Given the description of an element on the screen output the (x, y) to click on. 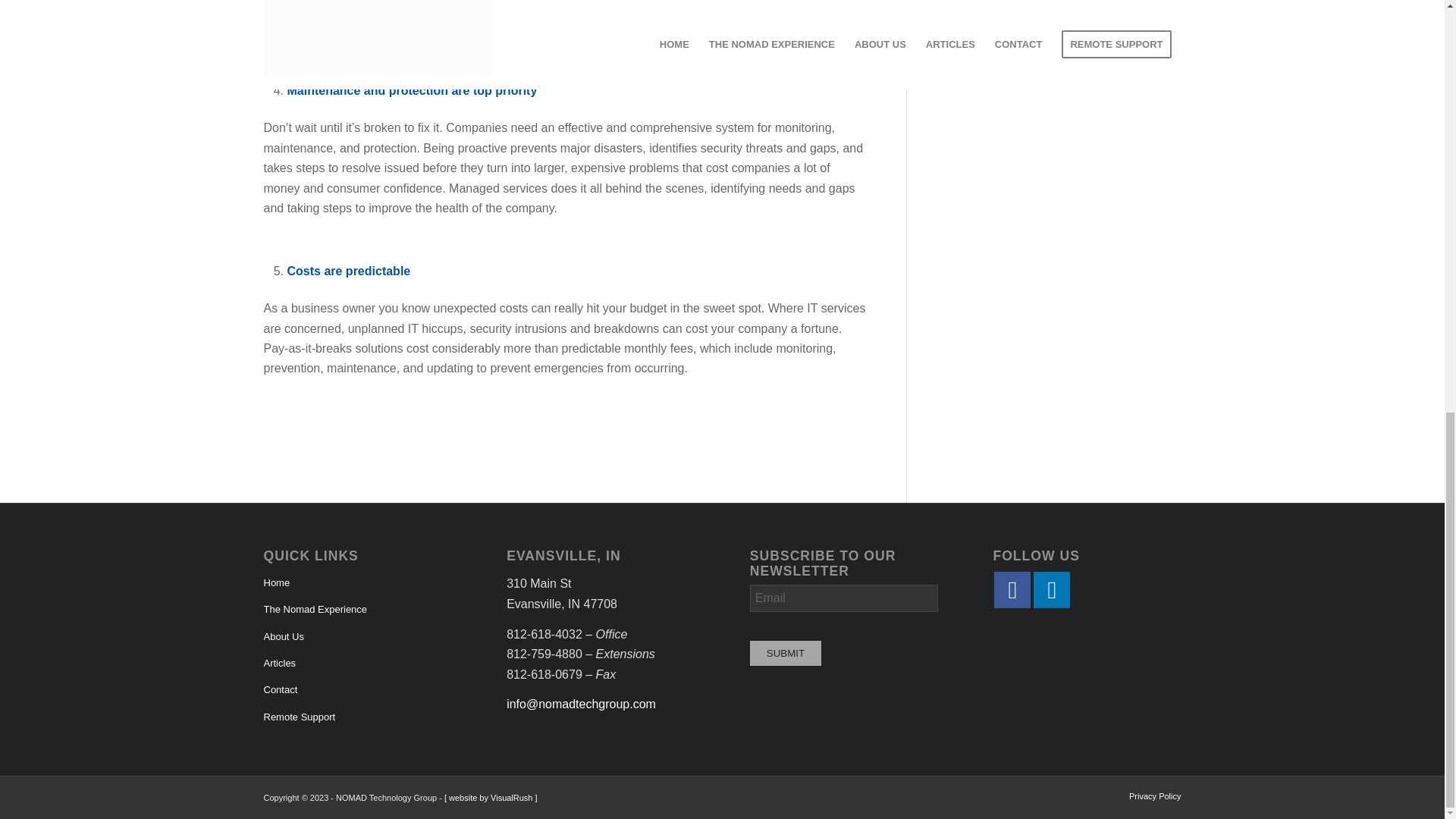
facebook (1012, 589)
linkedin (1051, 589)
Articles (357, 663)
linkedin (1052, 589)
The Nomad Experience (357, 610)
Submit (785, 652)
Remote Support (357, 717)
Contact (357, 690)
facebook (1013, 589)
About Us (357, 637)
Privacy Policy (1154, 795)
Home (357, 583)
Submit (785, 652)
